Given the description of an element on the screen output the (x, y) to click on. 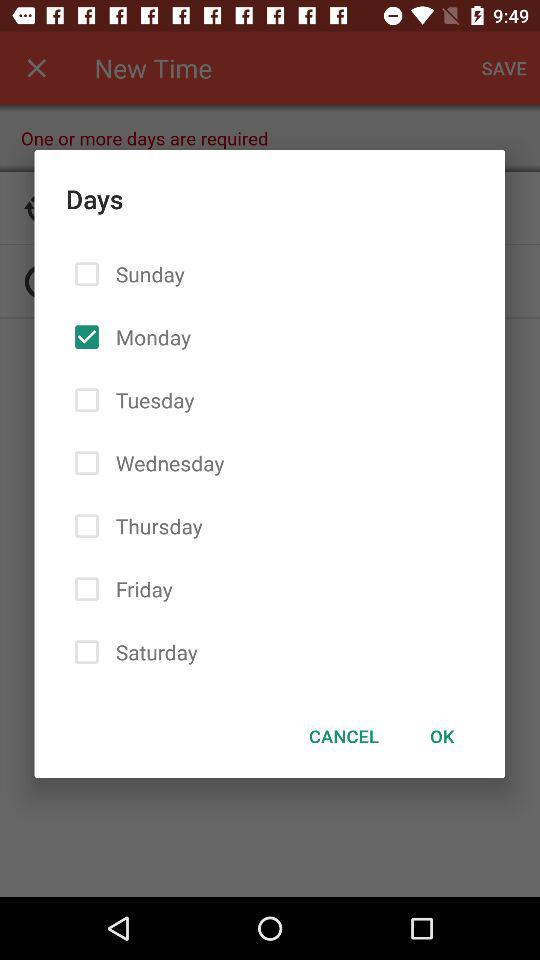
select the icon next to ok (343, 735)
